Given the description of an element on the screen output the (x, y) to click on. 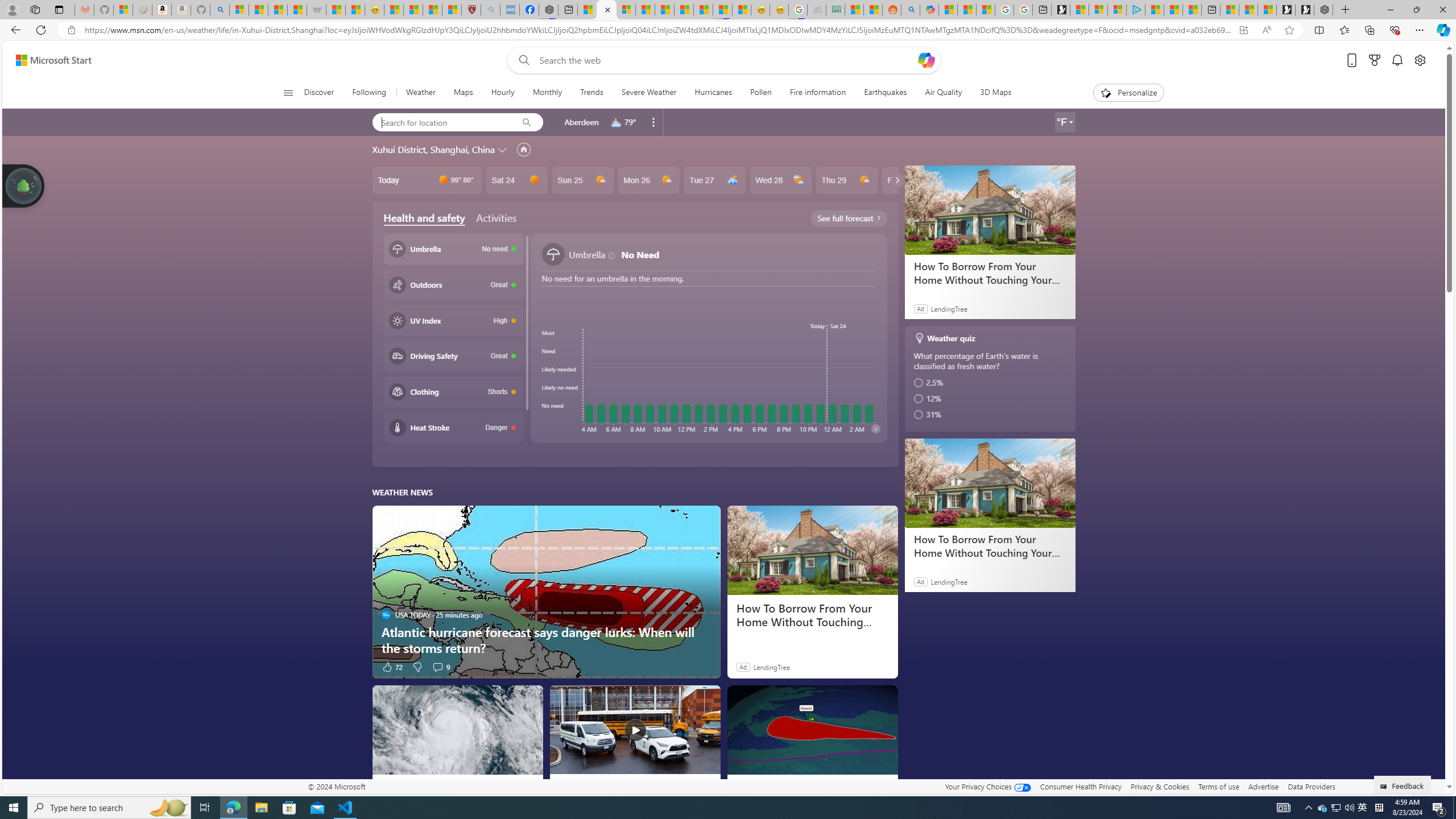
Fire information (817, 92)
Your Privacy Choices (987, 785)
Set as primary location (522, 149)
Severe Weather (649, 92)
Mon 26 (648, 180)
Aberdeen (581, 121)
Sat 24 (516, 180)
Tue 27 (714, 180)
